Given the description of an element on the screen output the (x, y) to click on. 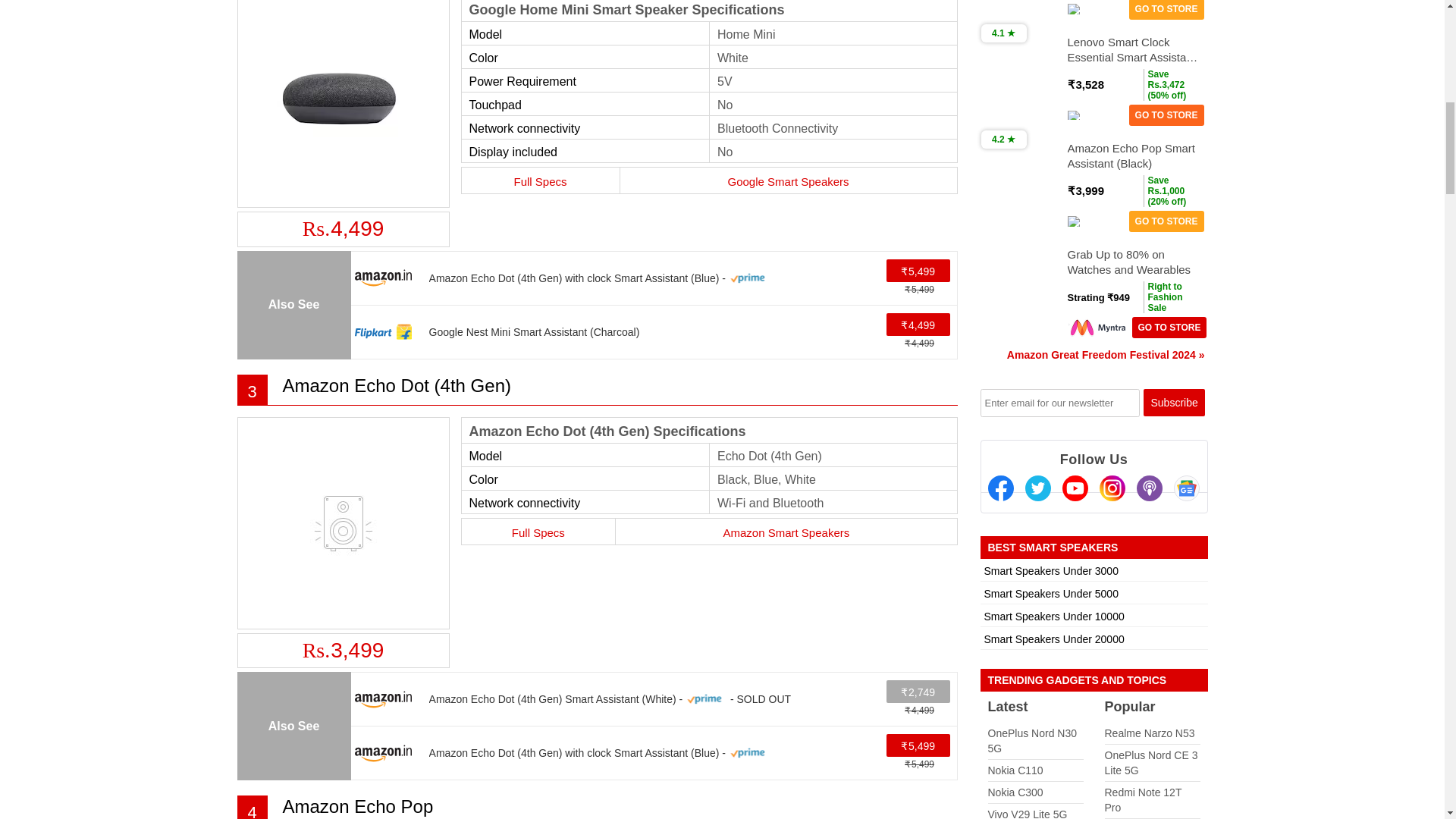
Google Smart Speakers (788, 180)
Google Home Mini Smart Speaker Full Specs (539, 180)
Subscribe (1173, 402)
Google Home Mini Smart Speaker (343, 101)
Google Home Mini Smart Speaker (342, 101)
